Given the description of an element on the screen output the (x, y) to click on. 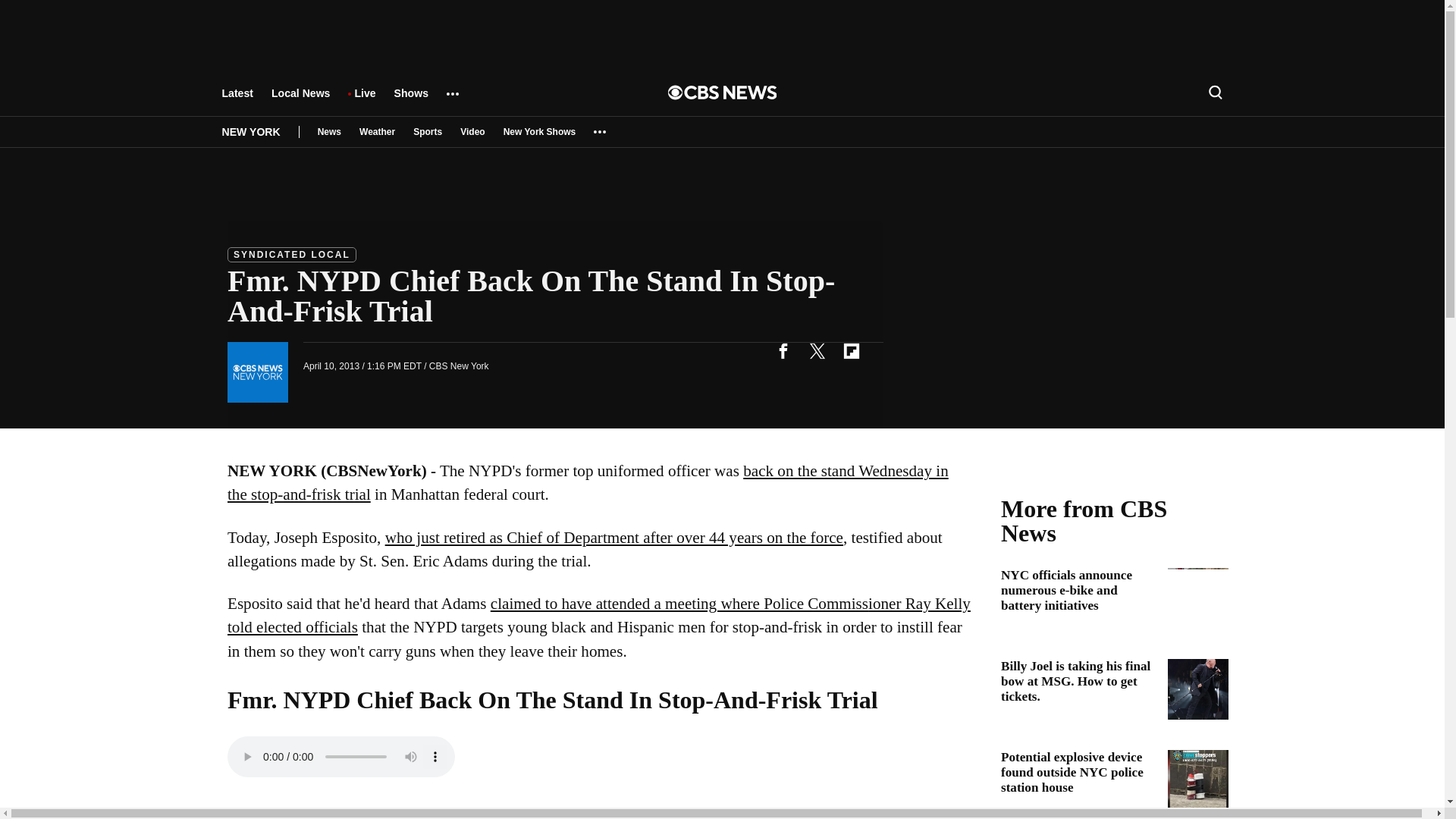
twitter (816, 350)
Latest (236, 100)
Local News (300, 100)
facebook (782, 350)
flipboard (850, 350)
